Given the description of an element on the screen output the (x, y) to click on. 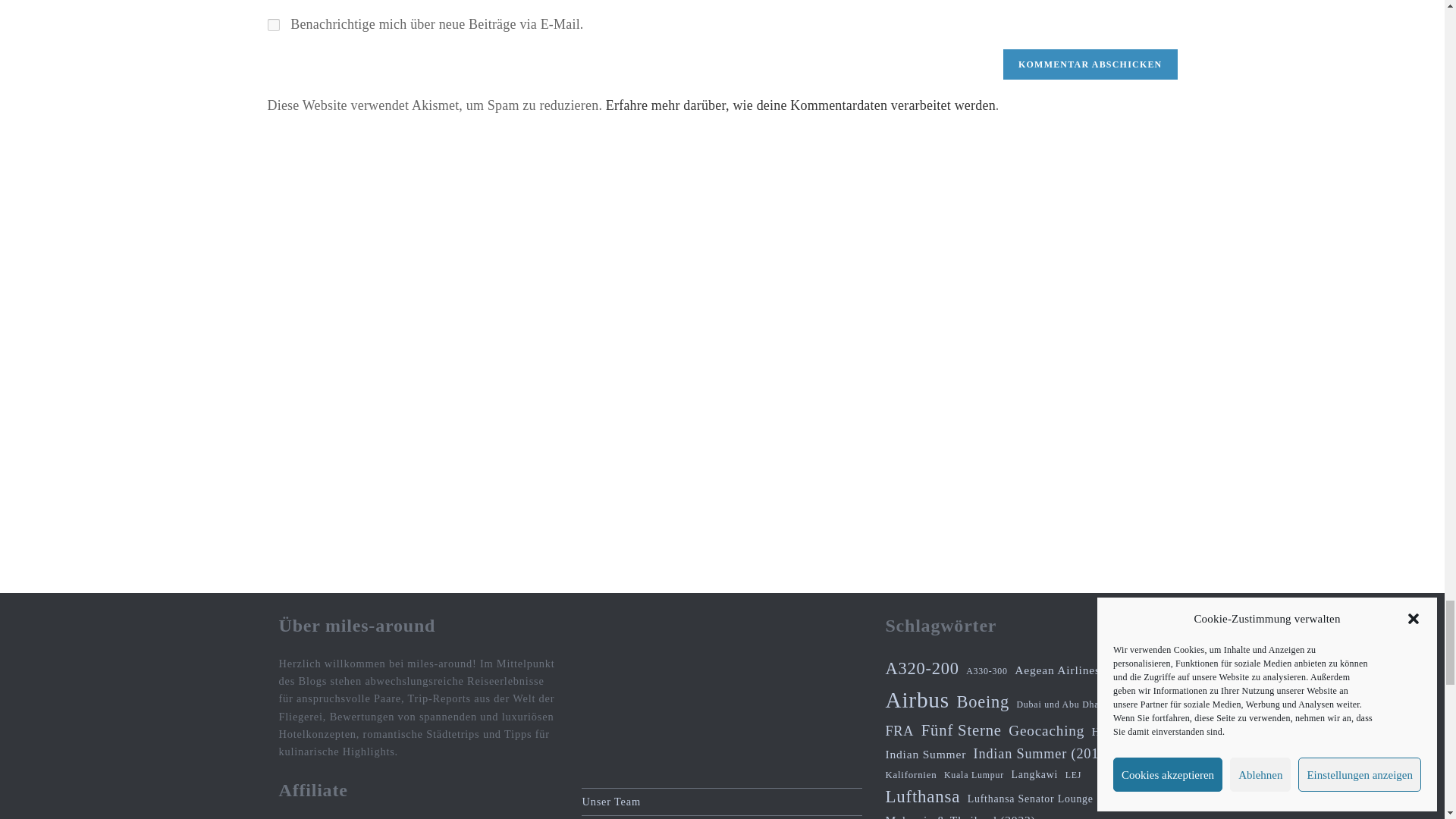
subscribe (272, 24)
Kommentar abschicken (1089, 64)
